Given the description of an element on the screen output the (x, y) to click on. 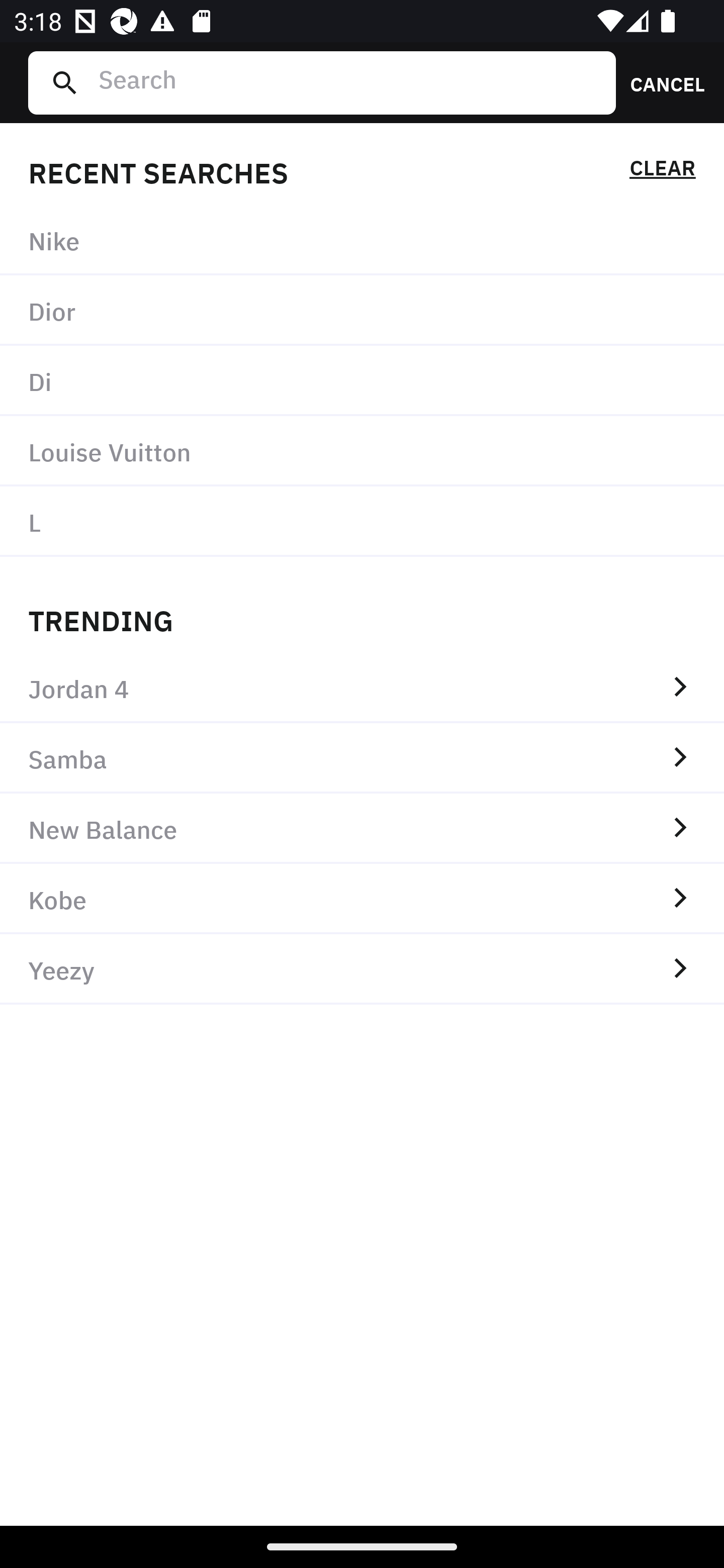
CANCEL (660, 82)
Search (349, 82)
CLEAR (662, 170)
Nike (362, 240)
Dior (362, 310)
Di (362, 380)
Louise Vuitton (362, 450)
L (362, 521)
Jordan 4  (362, 687)
Samba  (362, 757)
New Balance  (362, 828)
Kobe  (362, 898)
Yeezy  (362, 969)
